Given the description of an element on the screen output the (x, y) to click on. 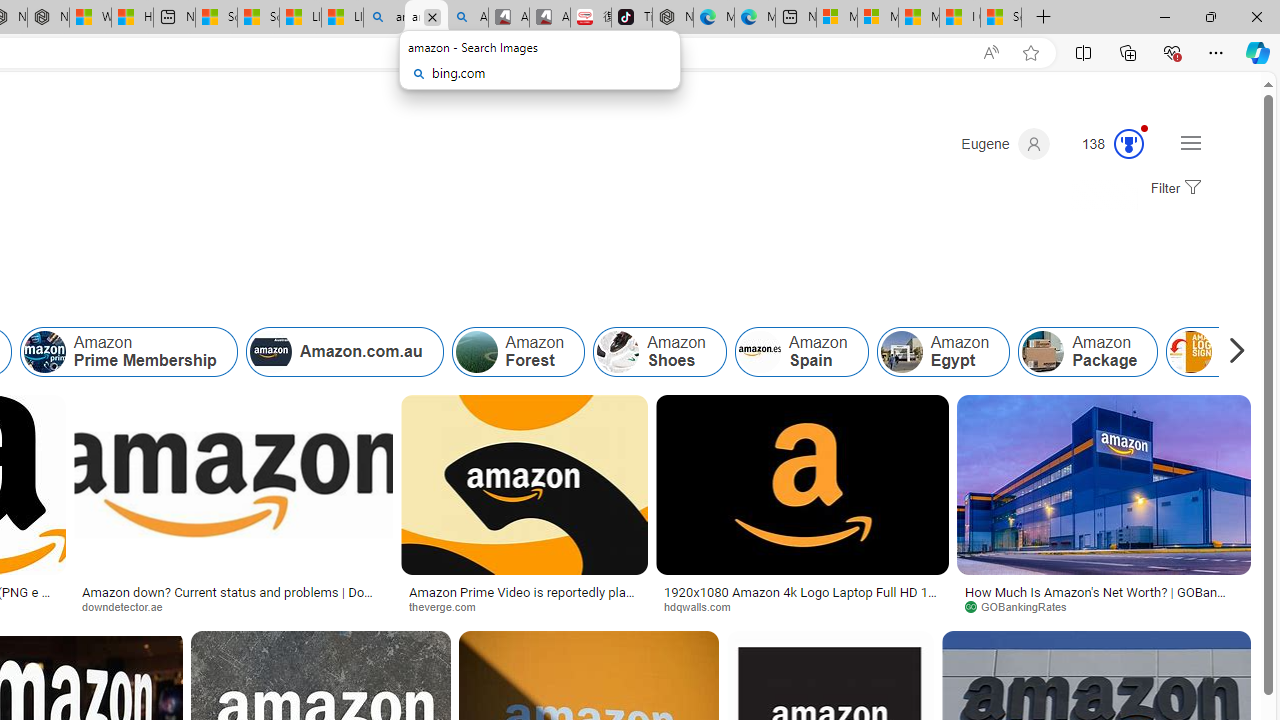
Filter (1173, 189)
Amazon.com.au (270, 351)
Scroll right (1231, 351)
Amazon Prime Membership (128, 351)
Image result for amazon (1103, 485)
How Much Is Amazon's Net Worth? | GOBankingRates (1103, 598)
Amazon Spain (759, 351)
Amazon Package (1042, 351)
